Given the description of an element on the screen output the (x, y) to click on. 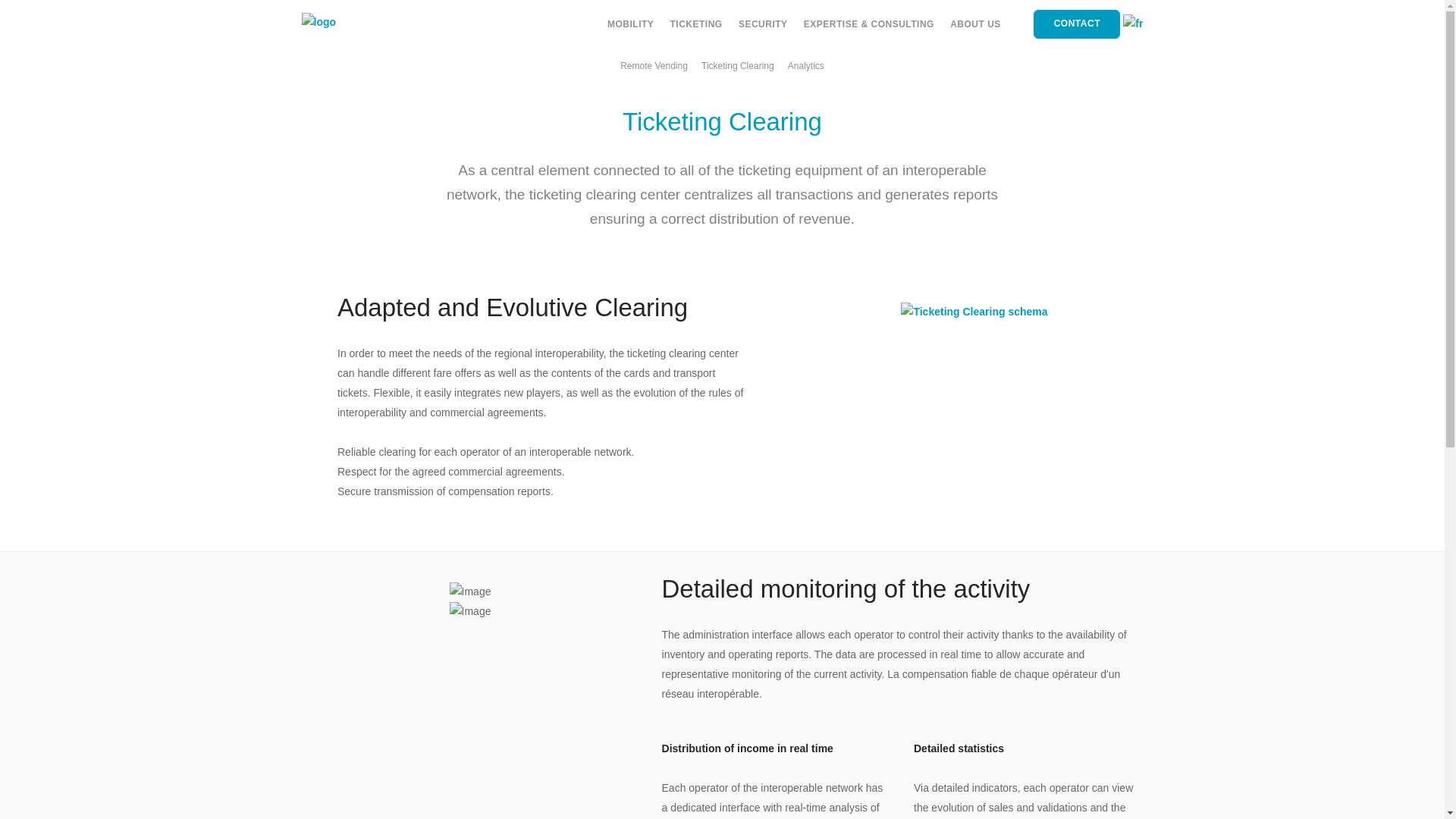
Analytics (805, 65)
TICKETING (695, 23)
ABOUT US (975, 23)
CONTACT (1077, 23)
SECURITY (762, 23)
Remote Vending (653, 65)
MOBILITY (630, 23)
Ticketing Clearing (737, 65)
